Given the description of an element on the screen output the (x, y) to click on. 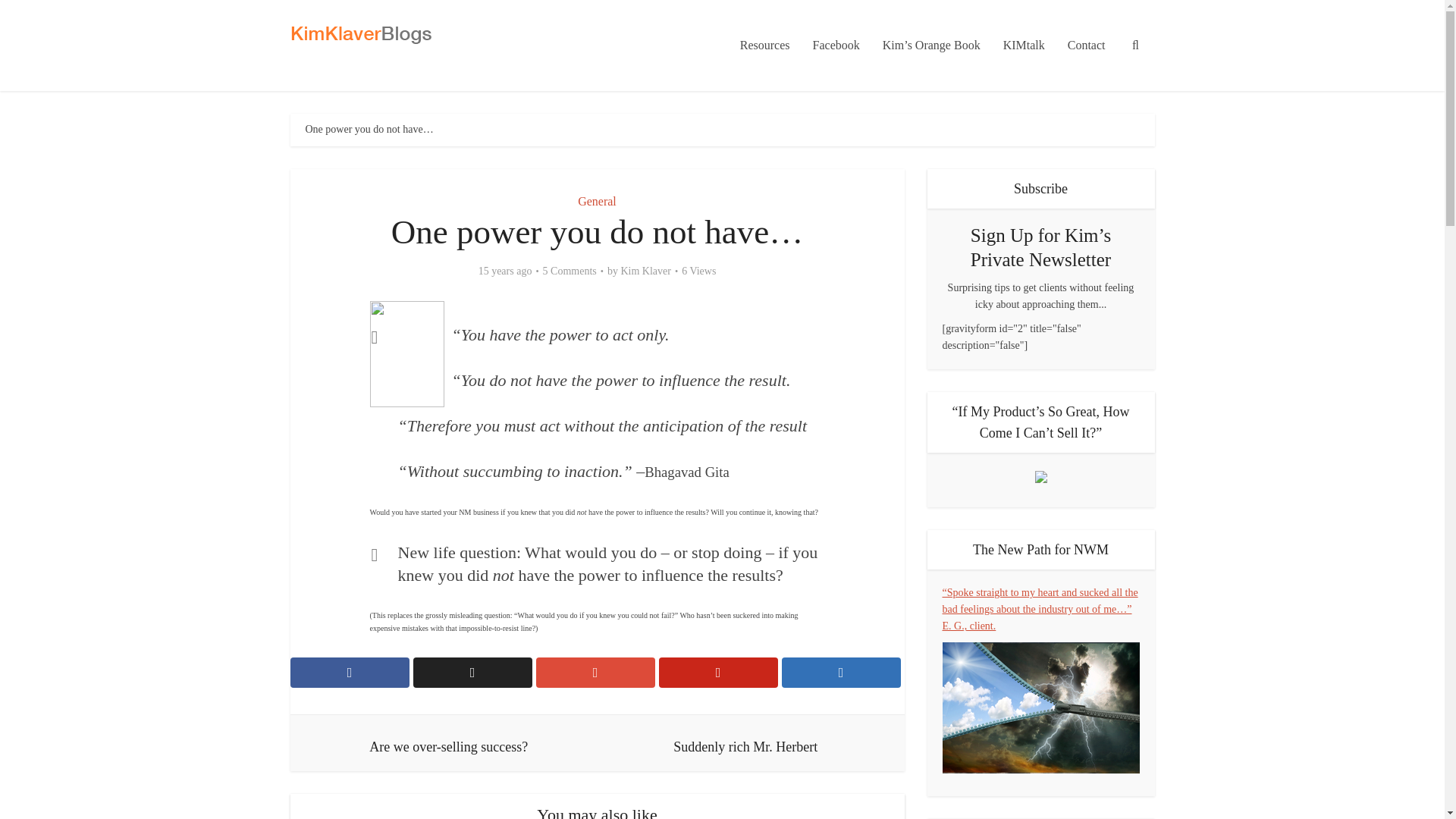
Are we over-selling success? (449, 742)
Suddenly rich Mr. Herbert (745, 742)
General (596, 201)
Kim Klaver (644, 271)
5 Comments (569, 271)
